Given the description of an element on the screen output the (x, y) to click on. 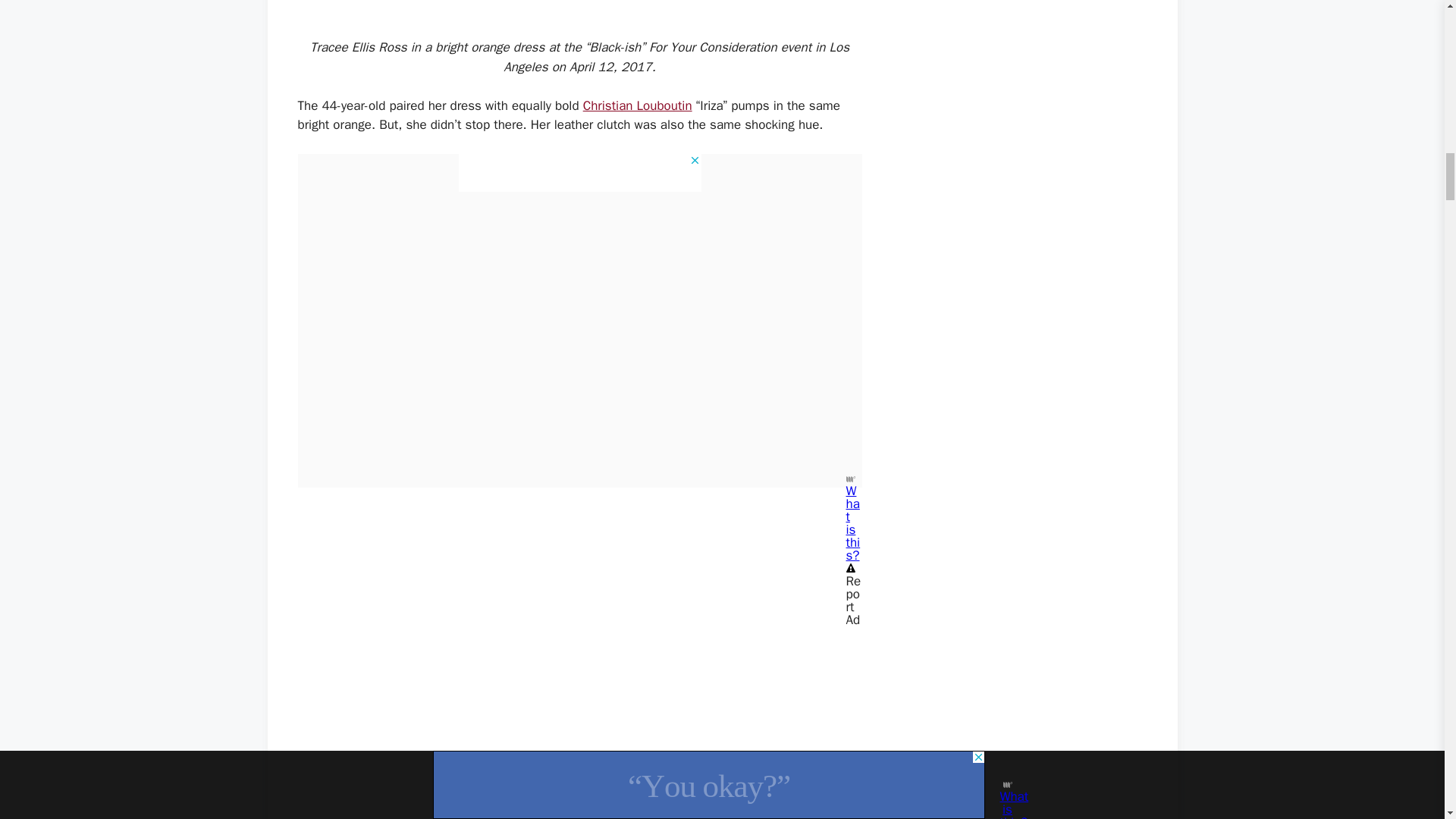
Christian Louboutin (638, 105)
3rd party ad content (579, 172)
